Given the description of an element on the screen output the (x, y) to click on. 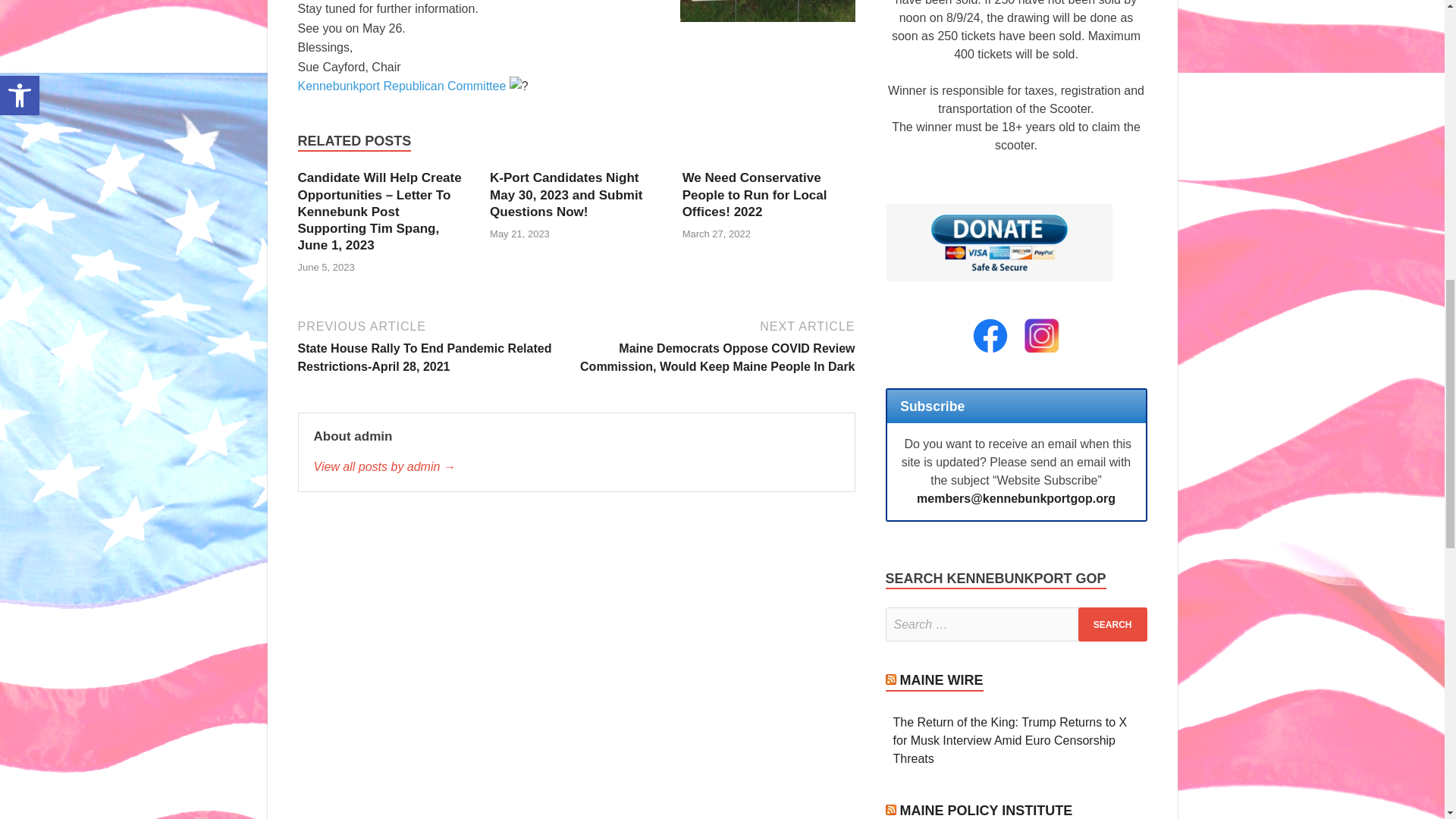
admin (577, 466)
Search (1112, 624)
We Need Conservative People to Run for Local Offices! 2022 (754, 194)
Search (1112, 624)
